Given the description of an element on the screen output the (x, y) to click on. 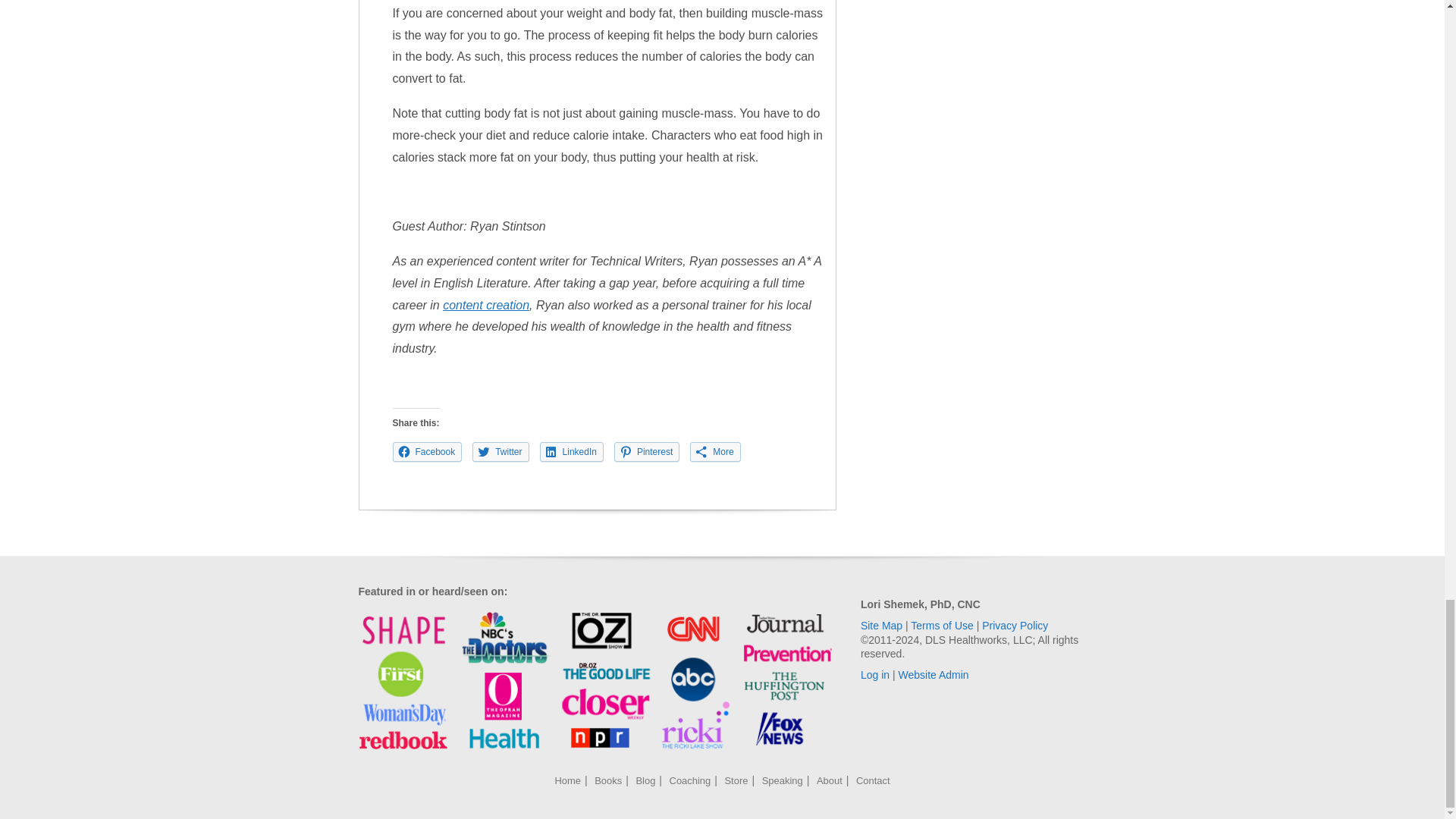
Pinterest (646, 451)
Twitter (499, 451)
Click to share on Twitter (499, 451)
content creation (485, 305)
Facebook (428, 451)
LinkedIn (572, 451)
More (714, 451)
Click to share on Facebook (428, 451)
Click to share on LinkedIn (572, 451)
Click to share on Pinterest (646, 451)
